Given the description of an element on the screen output the (x, y) to click on. 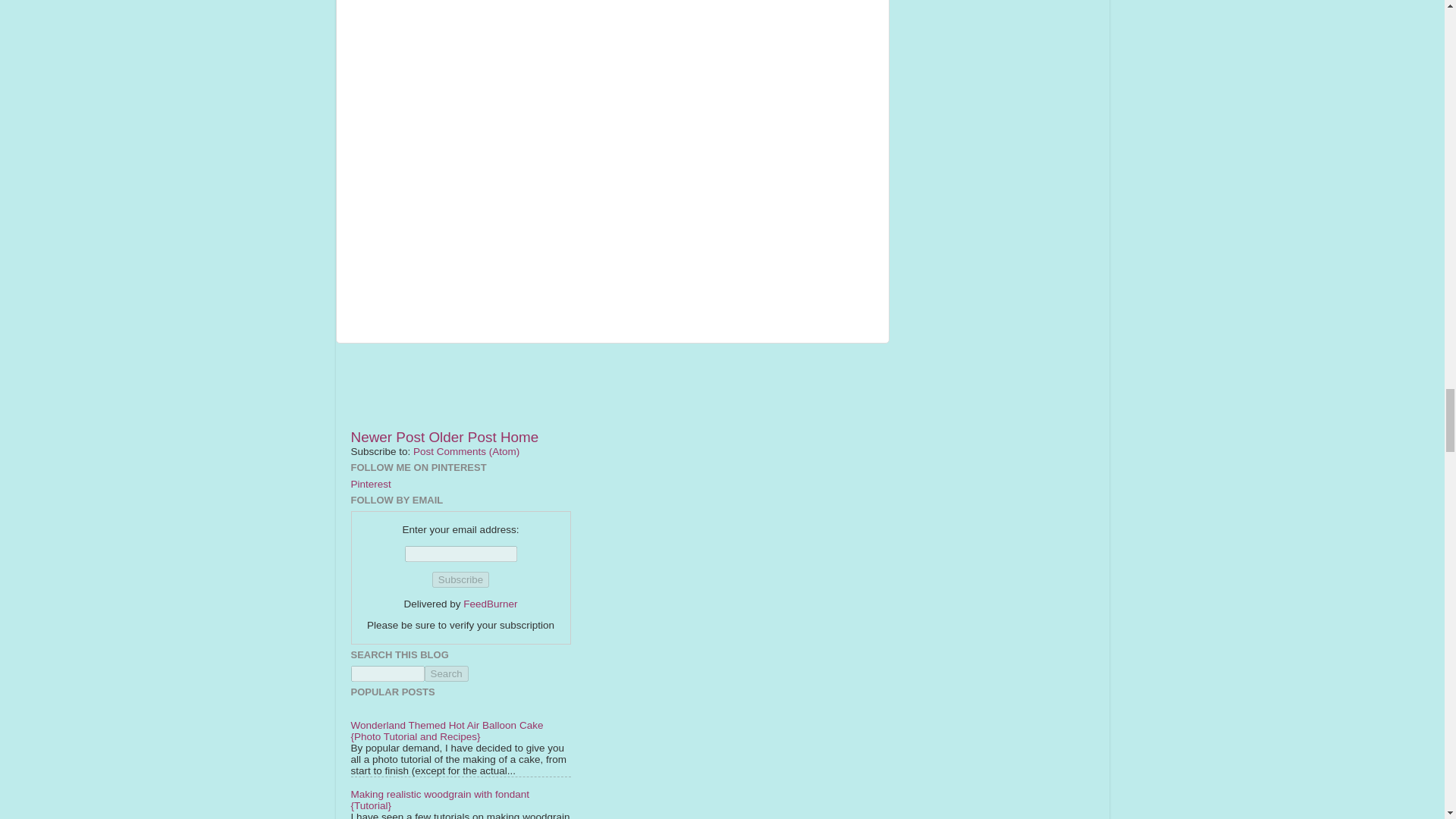
Search (446, 673)
Subscribe (460, 579)
search (446, 673)
Newer Post (387, 437)
search (386, 673)
Older Post (462, 437)
Search (446, 673)
